Given the description of an element on the screen output the (x, y) to click on. 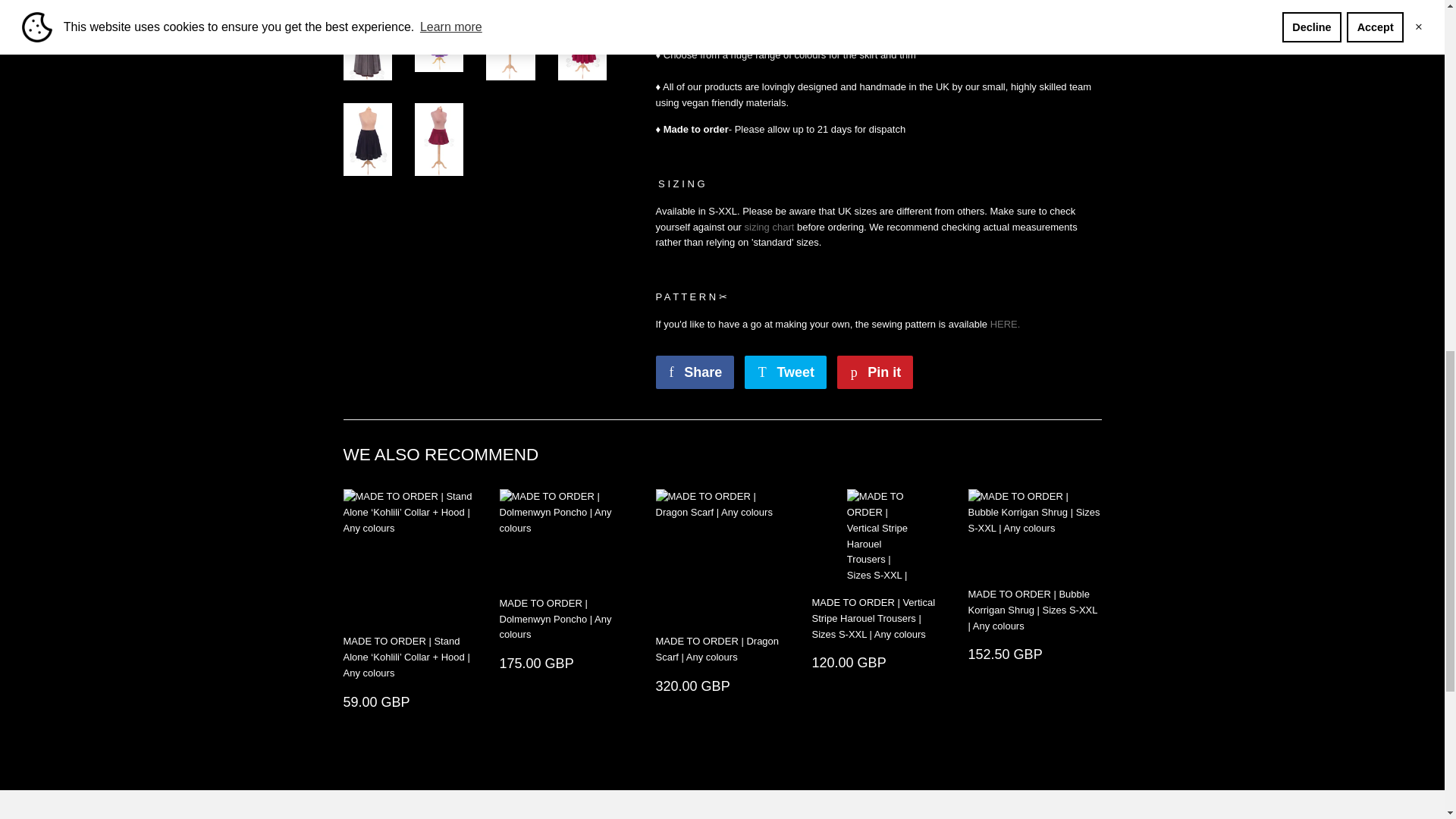
Telmandolle Skirt sewing pattern (1005, 324)
Tweet on Twitter (785, 372)
Share on Facebook (694, 372)
Pin on Pinterest (875, 372)
